Given the description of an element on the screen output the (x, y) to click on. 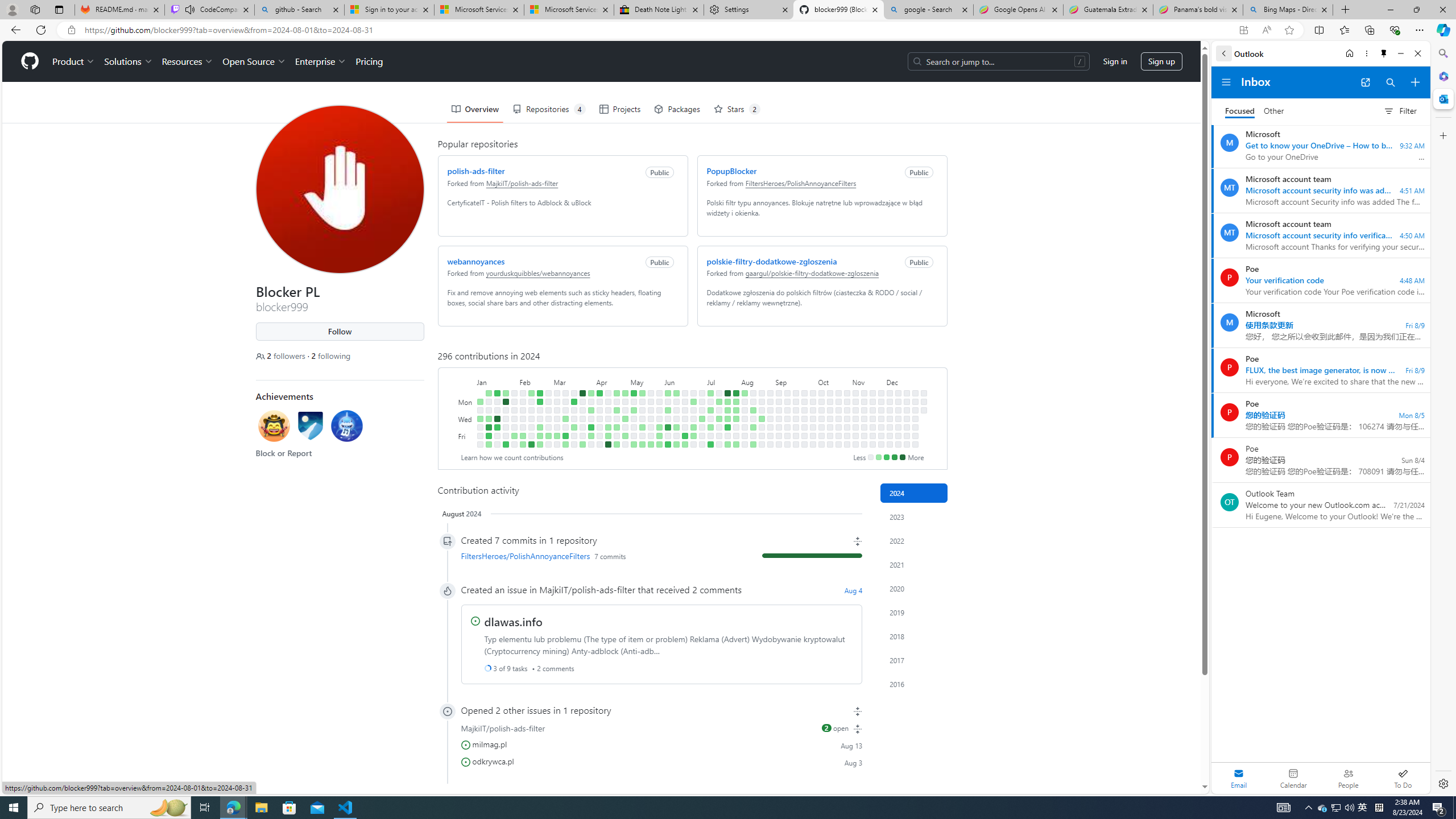
No contributions on February 3rd. (513, 444)
No contributions on March 19th. (573, 410)
2 contributions on June 2nd. (667, 392)
No contributions on May 6th. (633, 401)
No contributions on July 1st. (701, 401)
No contributions on November 30th. (880, 444)
No contributions on December 23rd. (914, 401)
No contributions on December 18th. (906, 418)
No contributions on February 1st. (513, 427)
No contributions on November 5th. (855, 410)
No contributions on May 20th. (650, 401)
No contributions on April 9th. (598, 410)
No contributions on September 13th. (786, 435)
